Given the description of an element on the screen output the (x, y) to click on. 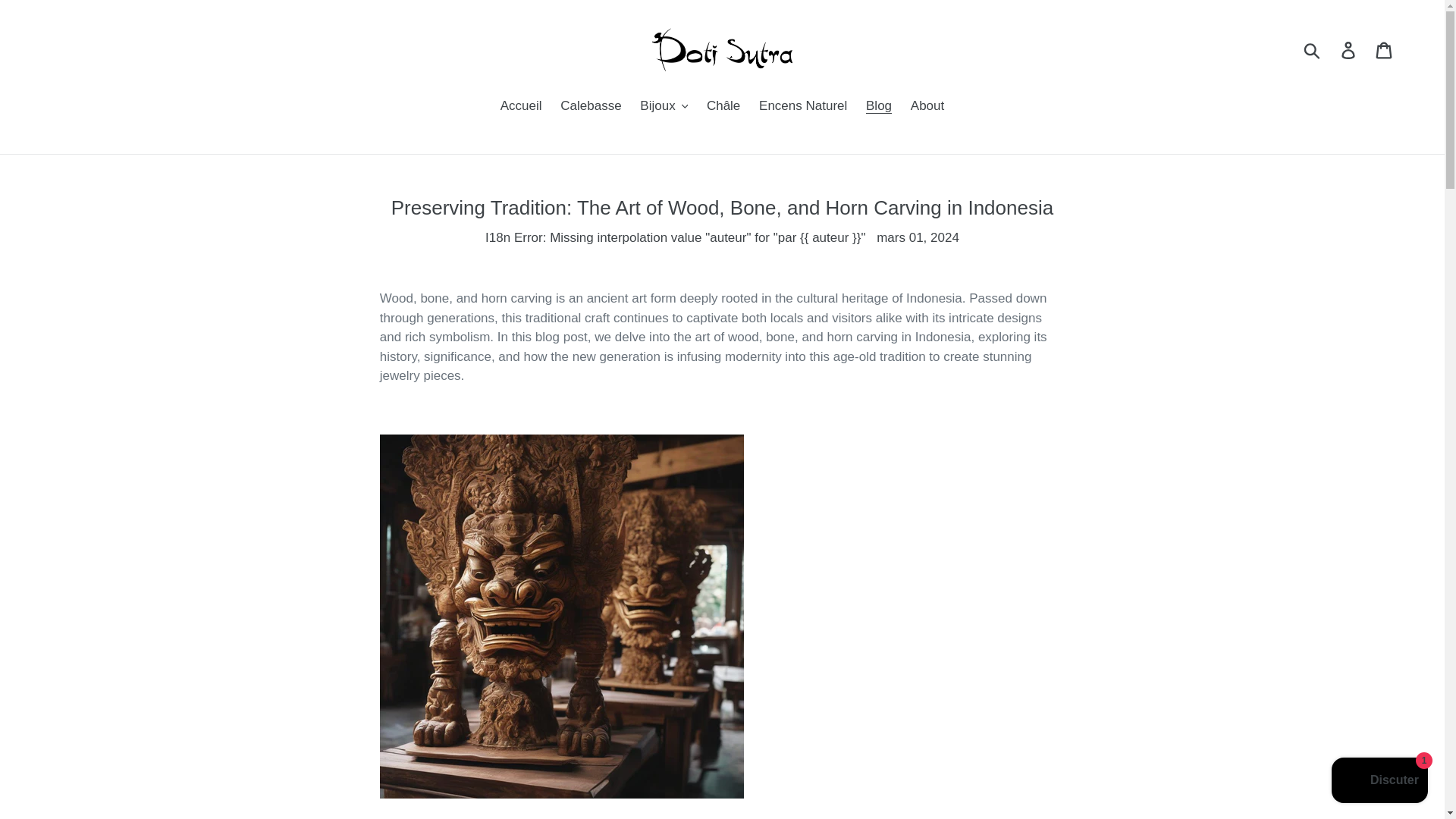
Encens Naturel (802, 106)
Blog (879, 106)
About (927, 106)
Accueil (521, 106)
Connexion (1349, 49)
Chariot (1385, 49)
Soumettre (1313, 49)
Calebasse (590, 106)
Chat de la boutique en ligne Shopify (1379, 781)
